Given the description of an element on the screen output the (x, y) to click on. 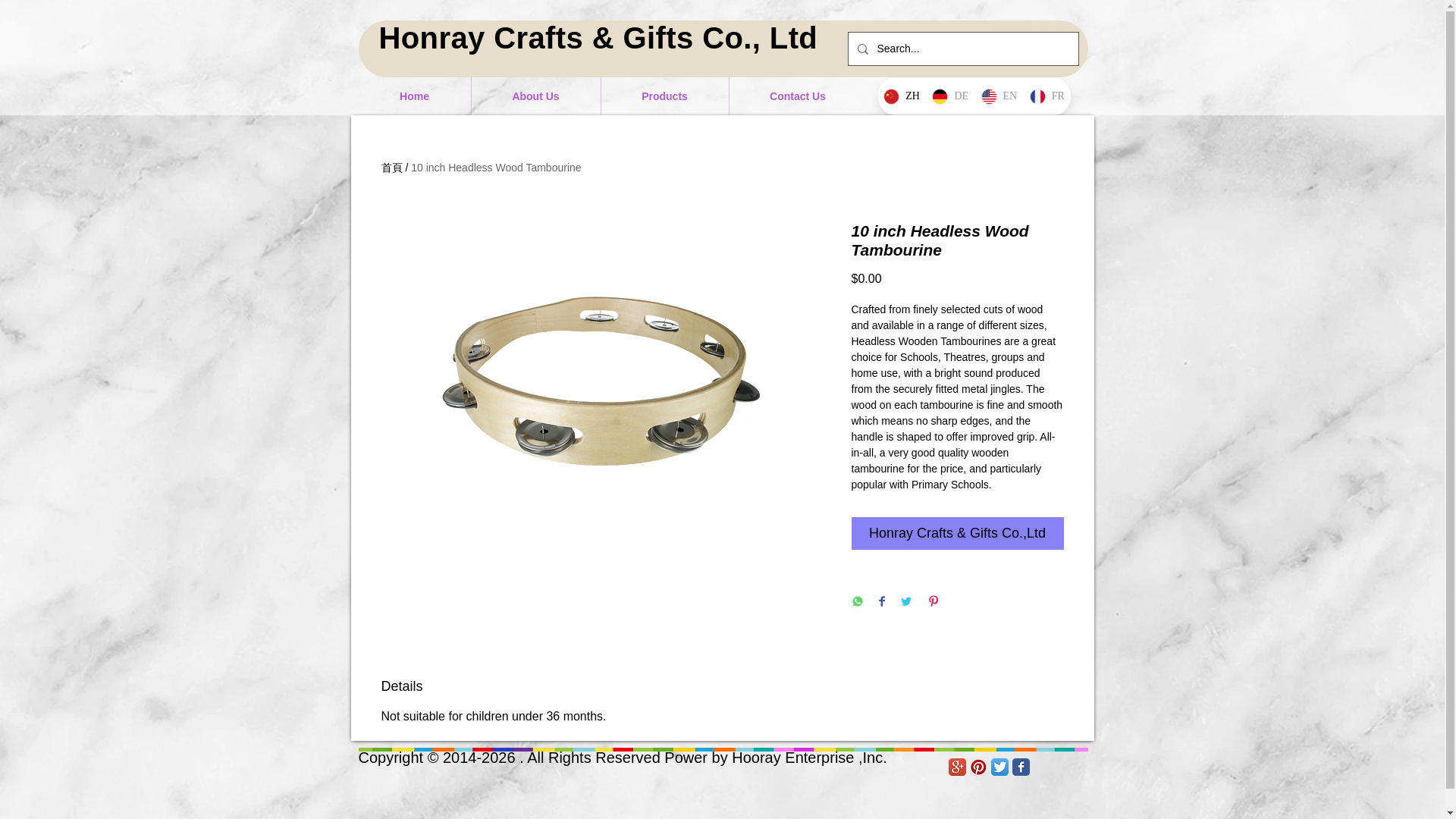
FR (1046, 95)
EN (998, 95)
Home (414, 95)
ZH (901, 95)
DE (950, 95)
Contact Us (797, 95)
10 inch Headless Wood Tambourine (495, 167)
About Us (535, 95)
Products (663, 95)
